Given the description of an element on the screen output the (x, y) to click on. 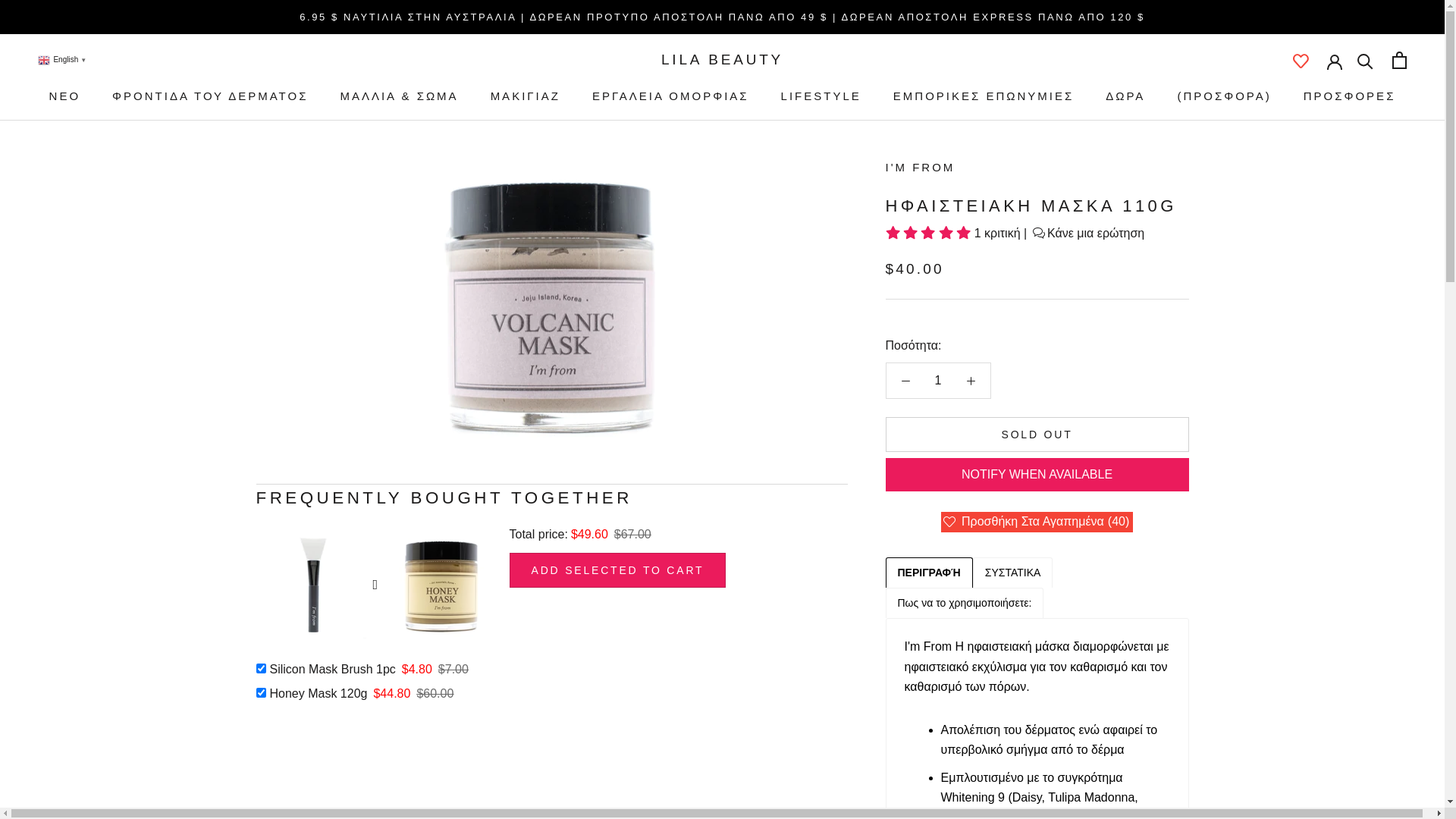
I'M FROM Element type: text (920, 166)
LIFESTYLE
LIFESTYLE Element type: text (821, 95)
Silicon Mask Brush 1pc Element type: text (330, 668)
SOLD OUT Element type: text (1037, 434)
Honey Mask 120g Element type: text (316, 693)
ADD SELECTED TO CART Element type: text (617, 569)
LILA BEAUTY Element type: text (722, 59)
